Given the description of an element on the screen output the (x, y) to click on. 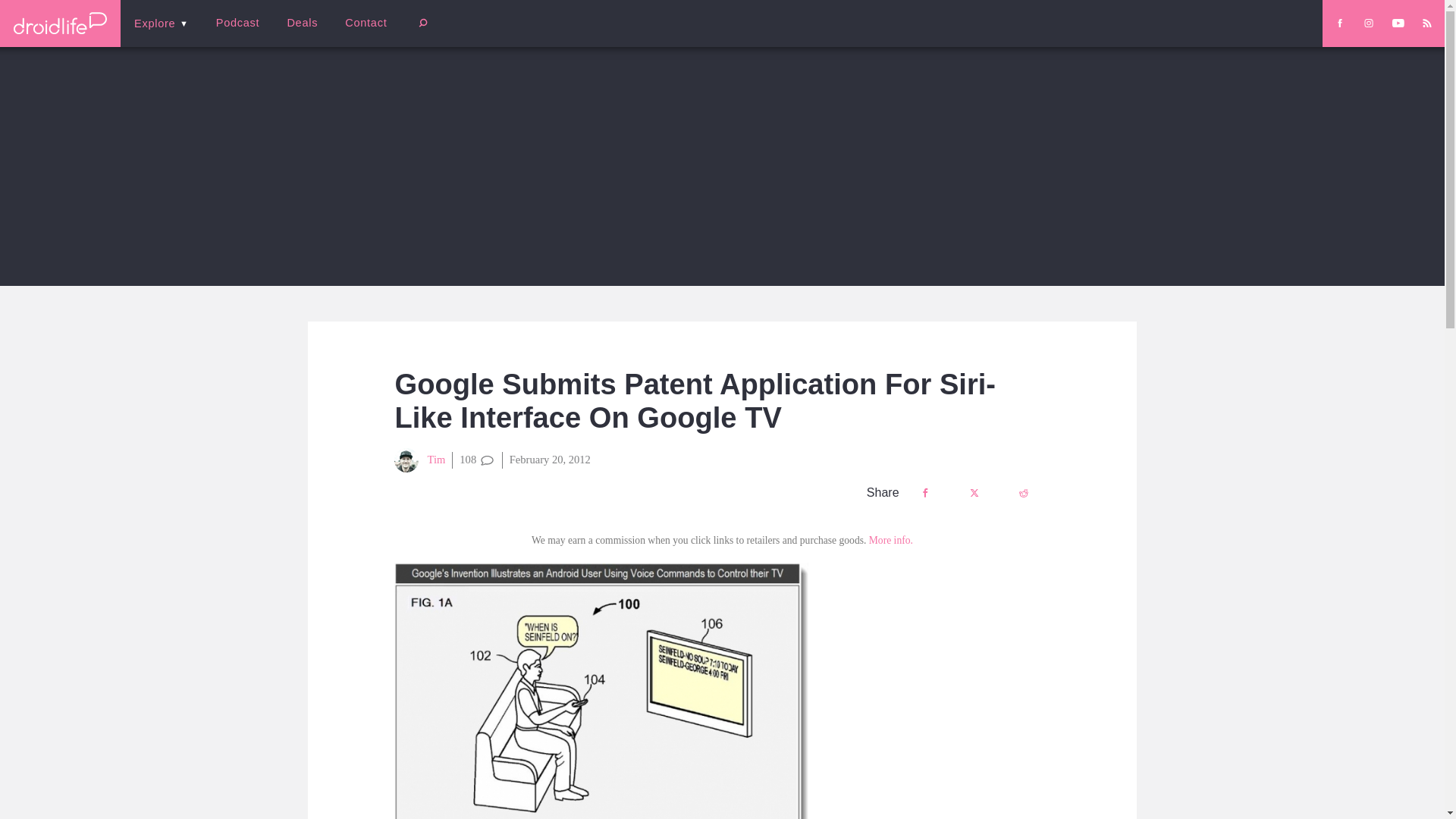
Tim (419, 459)
Beginners' Guide (360, 33)
Google TV (601, 690)
Droid Life on Facebook (1339, 23)
Contact (365, 23)
Podcast (237, 23)
Droid Life on Instagram (1368, 23)
Droid Life on YouTube (1398, 23)
Droid Life RSS (1426, 23)
Deals (302, 23)
